Given the description of an element on the screen output the (x, y) to click on. 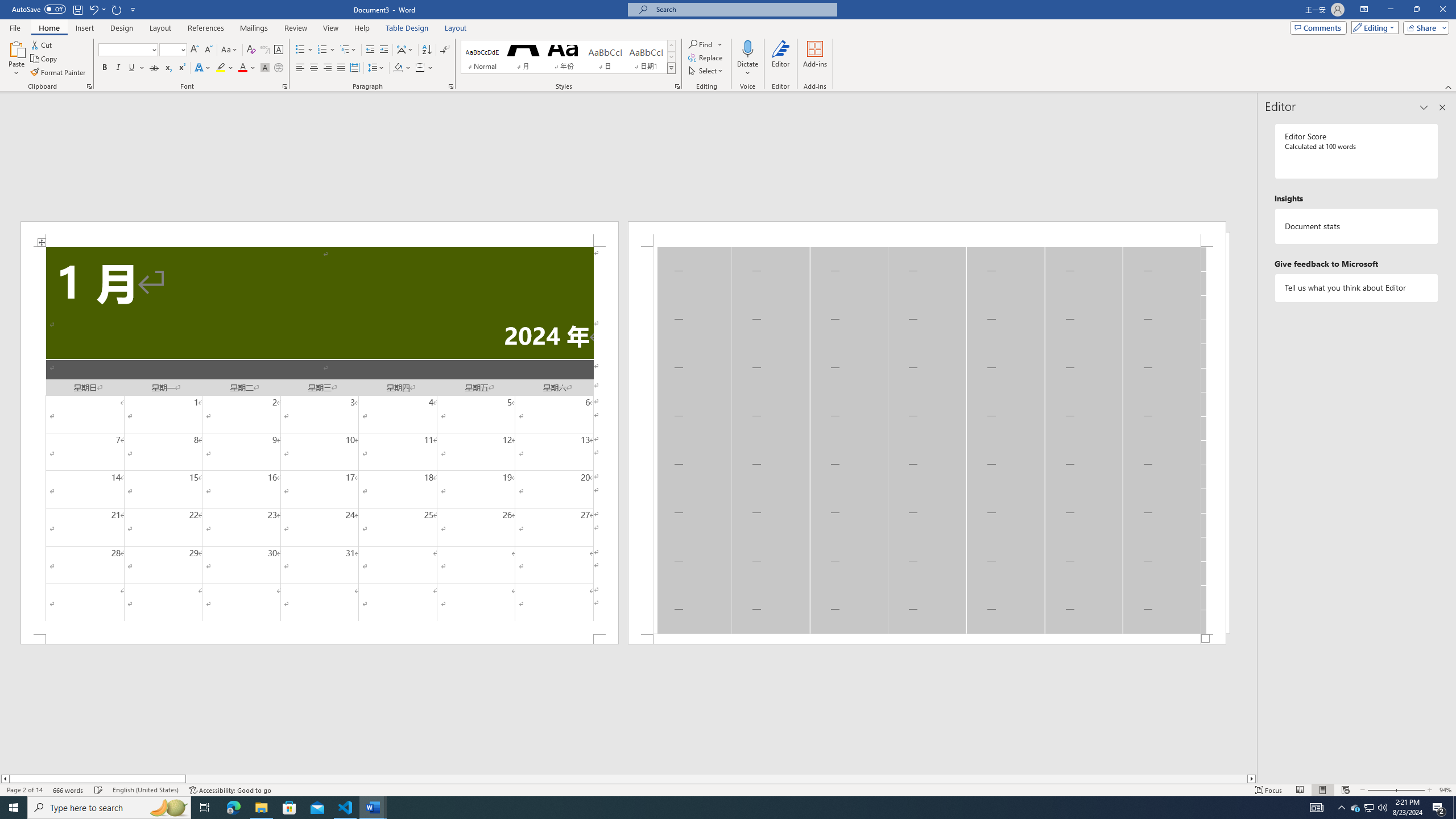
Strikethrough (154, 67)
Page right (716, 778)
Increase Indent (383, 49)
Language English (United States) (145, 790)
Page Number Page 2 of 14 (24, 790)
Repeat Doc Close (117, 9)
Font... (285, 85)
